Given the description of an element on the screen output the (x, y) to click on. 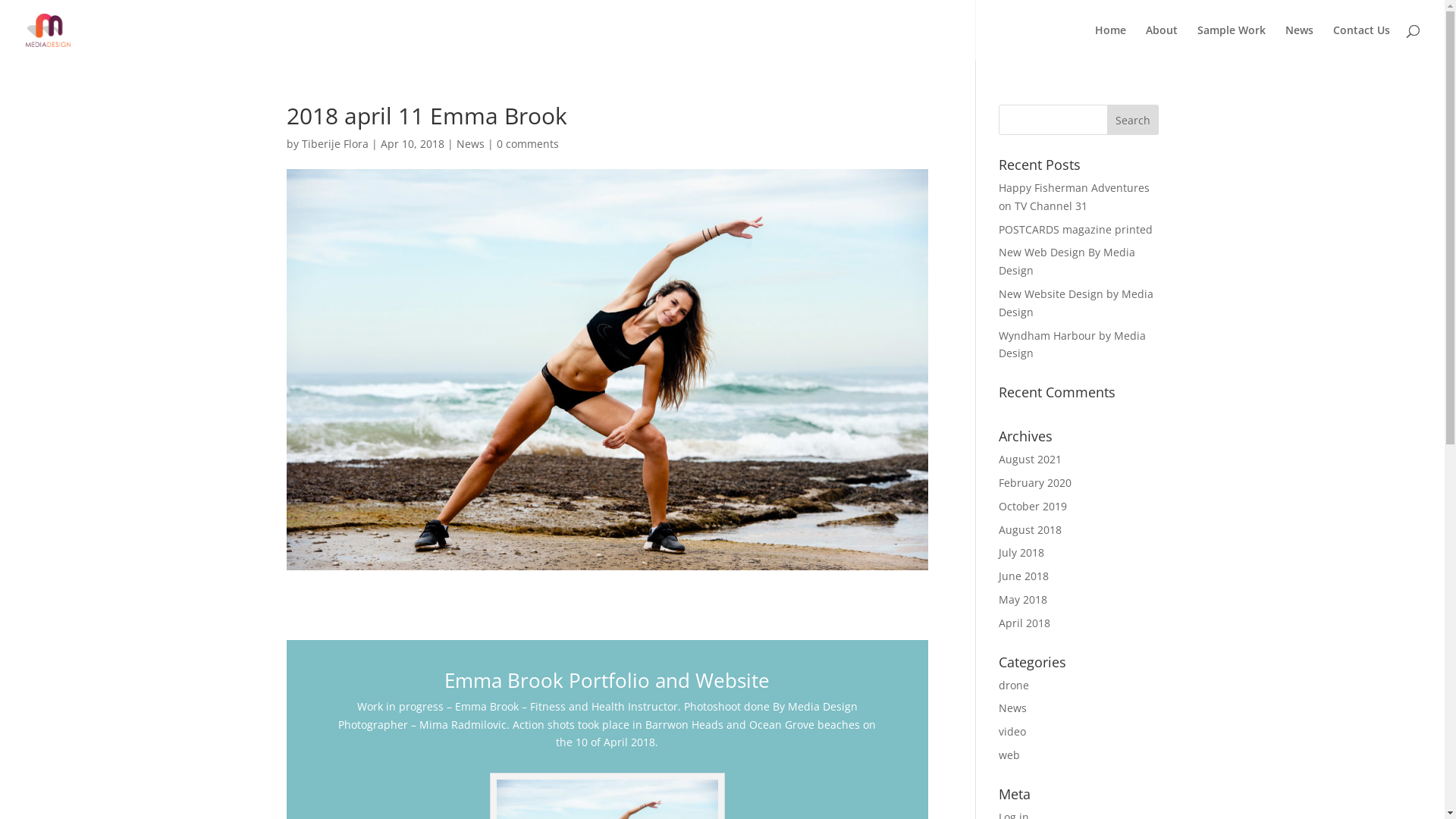
News Element type: text (1012, 707)
drone Element type: text (1013, 684)
April 2018 Element type: text (1024, 622)
Search Element type: text (1132, 119)
Happy Fisherman Adventures on TV Channel 31 Element type: text (1073, 196)
October 2019 Element type: text (1032, 505)
web Element type: text (1008, 754)
POSTCARDS magazine printed Element type: text (1075, 229)
News Element type: text (1299, 42)
Wyndham Harbour by Media Design Element type: text (1071, 344)
Home Element type: text (1110, 42)
About Element type: text (1161, 42)
August 2021 Element type: text (1029, 458)
Tiberije Flora Element type: text (334, 143)
News Element type: text (470, 143)
Contact Us Element type: text (1361, 42)
video Element type: text (1012, 731)
Sample Work Element type: text (1231, 42)
New Web Design By Media Design Element type: text (1066, 260)
August 2018 Element type: text (1029, 529)
July 2018 Element type: text (1021, 552)
June 2018 Element type: text (1023, 575)
0 comments Element type: text (526, 143)
May 2018 Element type: text (1022, 599)
February 2020 Element type: text (1034, 482)
New Website Design by Media Design Element type: text (1075, 302)
